Given the description of an element on the screen output the (x, y) to click on. 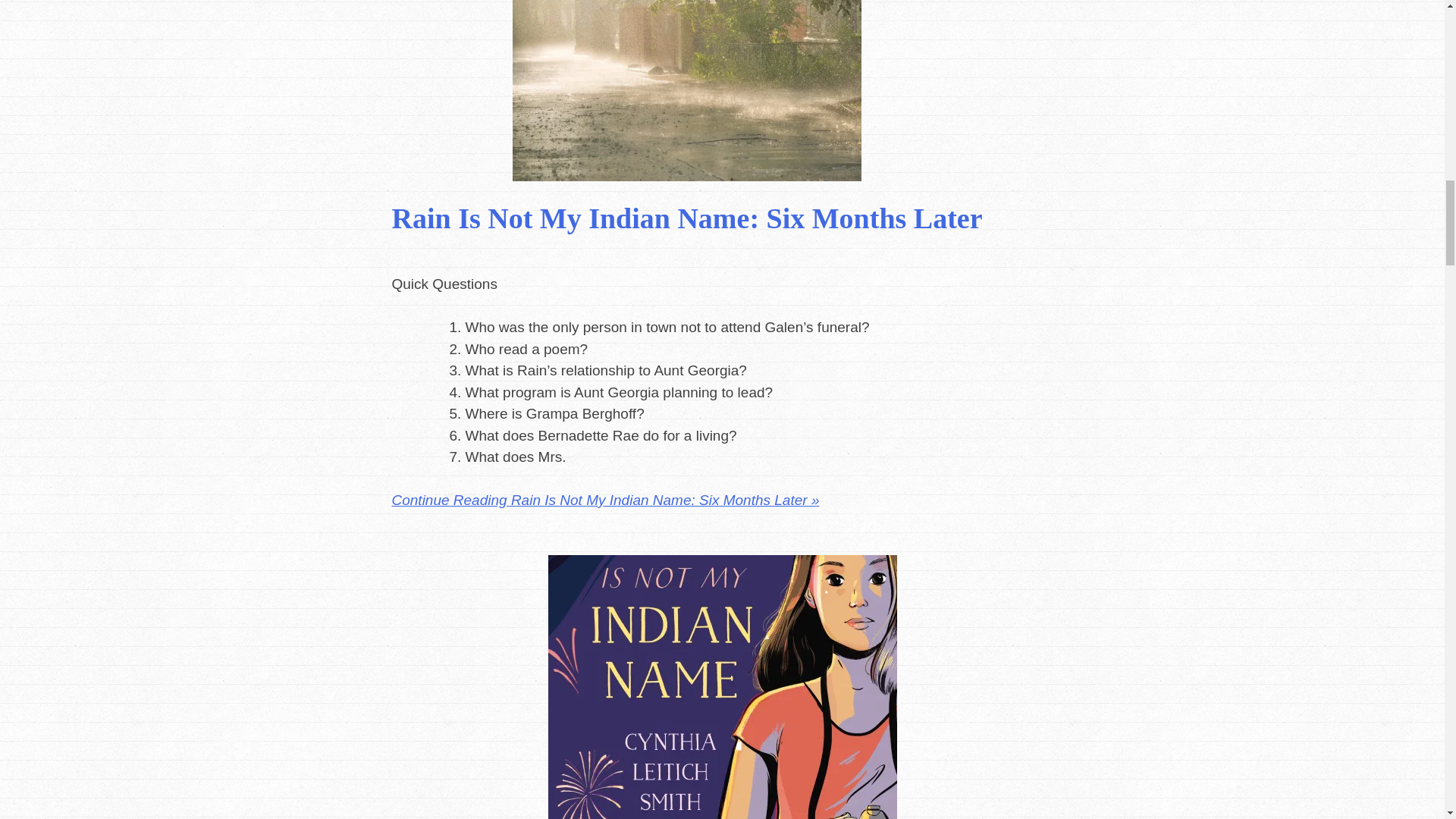
Rain Is Not My Indian Name: Six Months Later (686, 218)
